Given the description of an element on the screen output the (x, y) to click on. 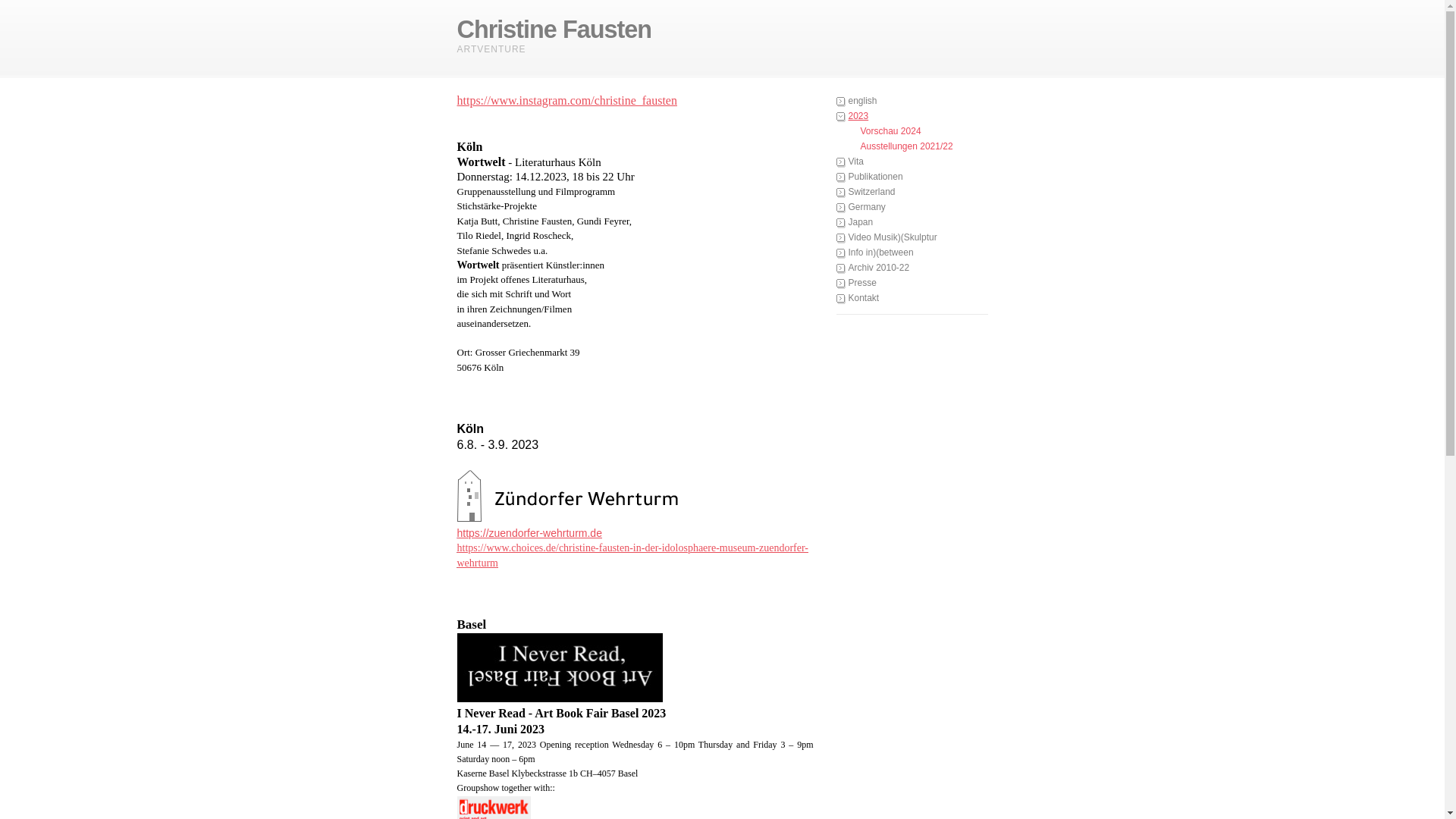
Japan Element type: text (911, 222)
Vita Element type: text (911, 161)
Video Musik)(Skulptur Element type: text (911, 237)
2023 Element type: text (911, 116)
https://www.instagram.com/christine_fausten Element type: text (566, 100)
Switzerland Element type: text (911, 192)
Info in)(between Element type: text (911, 252)
Kontakt Element type: text (911, 298)
Ausstellungen 2021/22 Element type: text (911, 146)
Publikationen Element type: text (911, 177)
https://zuendorfer-wehrturm.de Element type: text (528, 533)
Presse Element type: text (911, 283)
Germany Element type: text (911, 207)
english Element type: text (911, 101)
Vorschau 2024 Element type: text (911, 131)
Archiv 2010-22 Element type: text (911, 268)
